Given the description of an element on the screen output the (x, y) to click on. 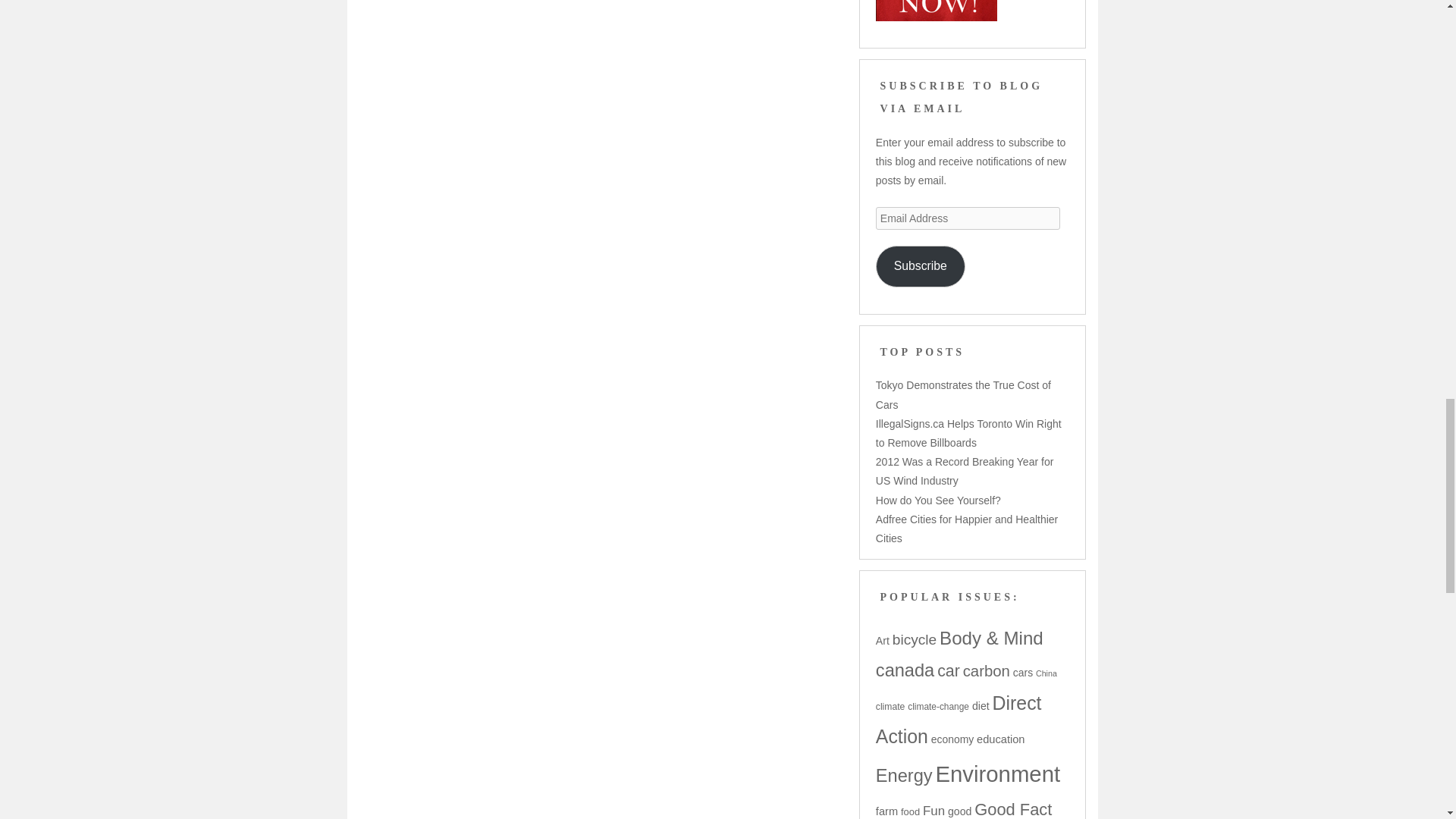
Subscribe (920, 266)
Tokyo Demonstrates the True Cost of Cars (963, 394)
IllegalSigns.ca Helps Toronto Win Right to Remove Billboards (968, 432)
2012 Was a Record Breaking Year for US Wind Industry (965, 470)
